Given the description of an element on the screen output the (x, y) to click on. 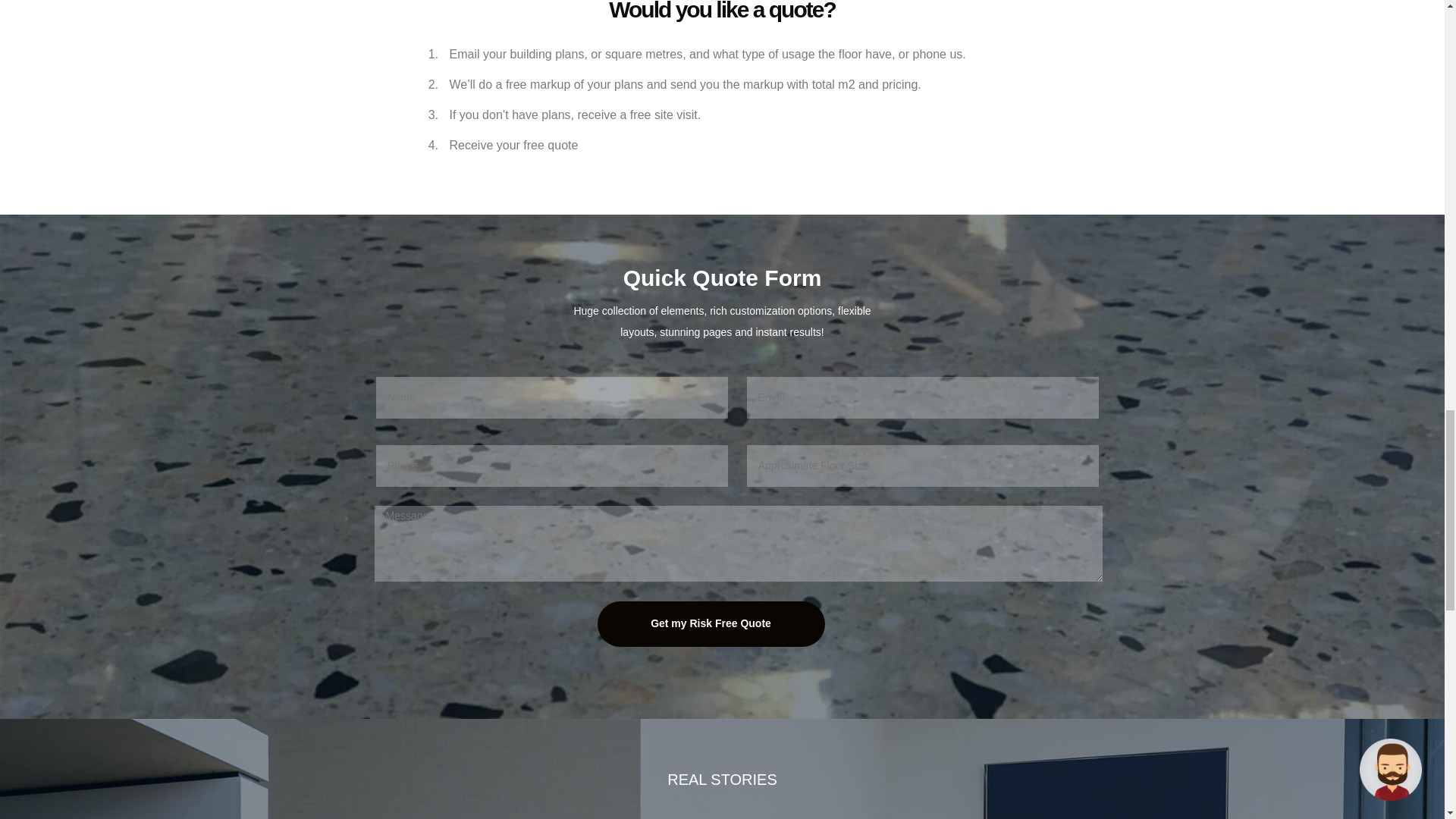
Get my Risk Free Quote (710, 624)
